Given the description of an element on the screen output the (x, y) to click on. 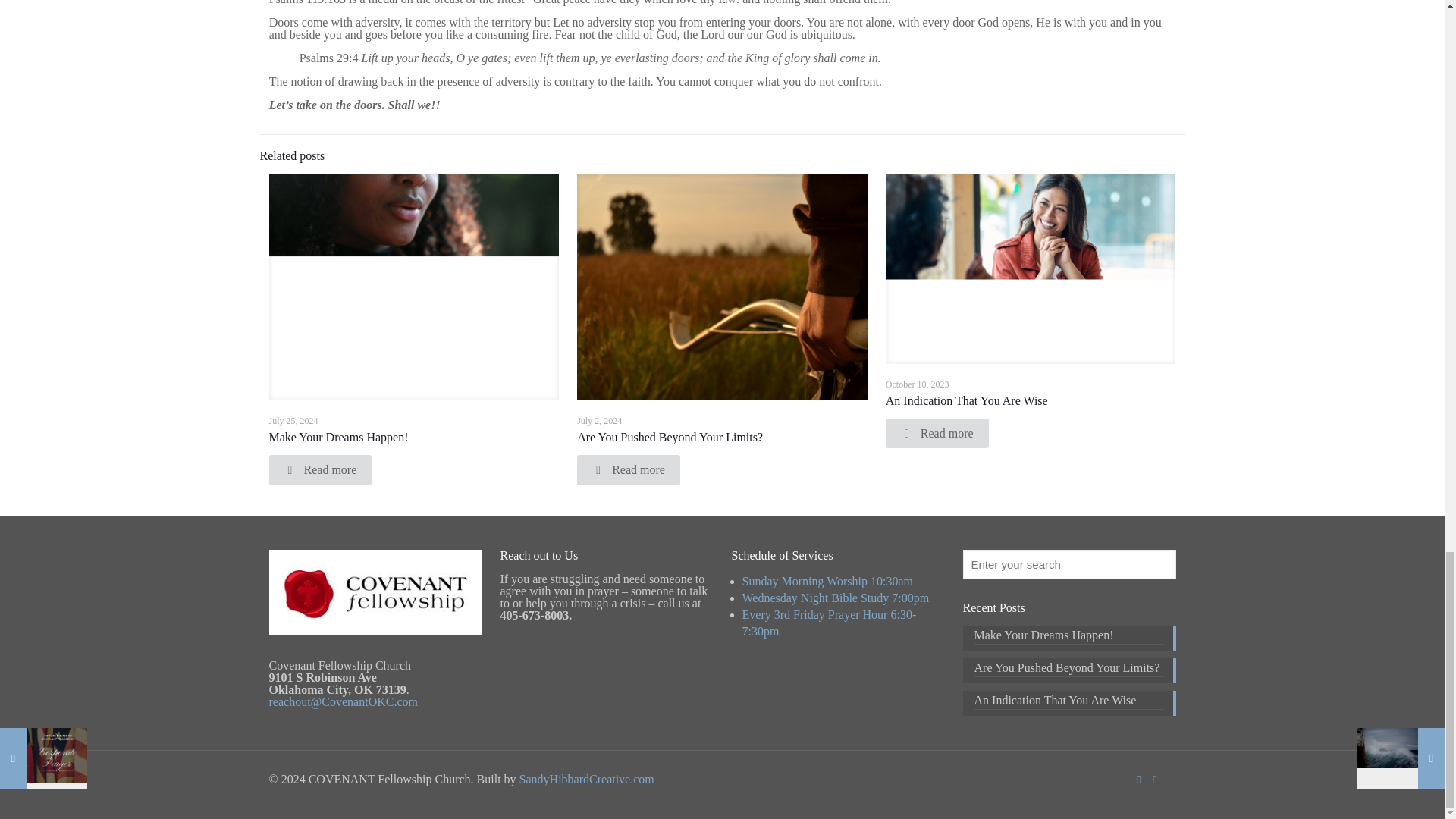
Make Your Dreams Happen! (337, 436)
Facebook (1138, 779)
Read more (319, 469)
RSS (1155, 779)
Read more (627, 469)
Are You Pushed Beyond Your Limits? (669, 436)
